Given the description of an element on the screen output the (x, y) to click on. 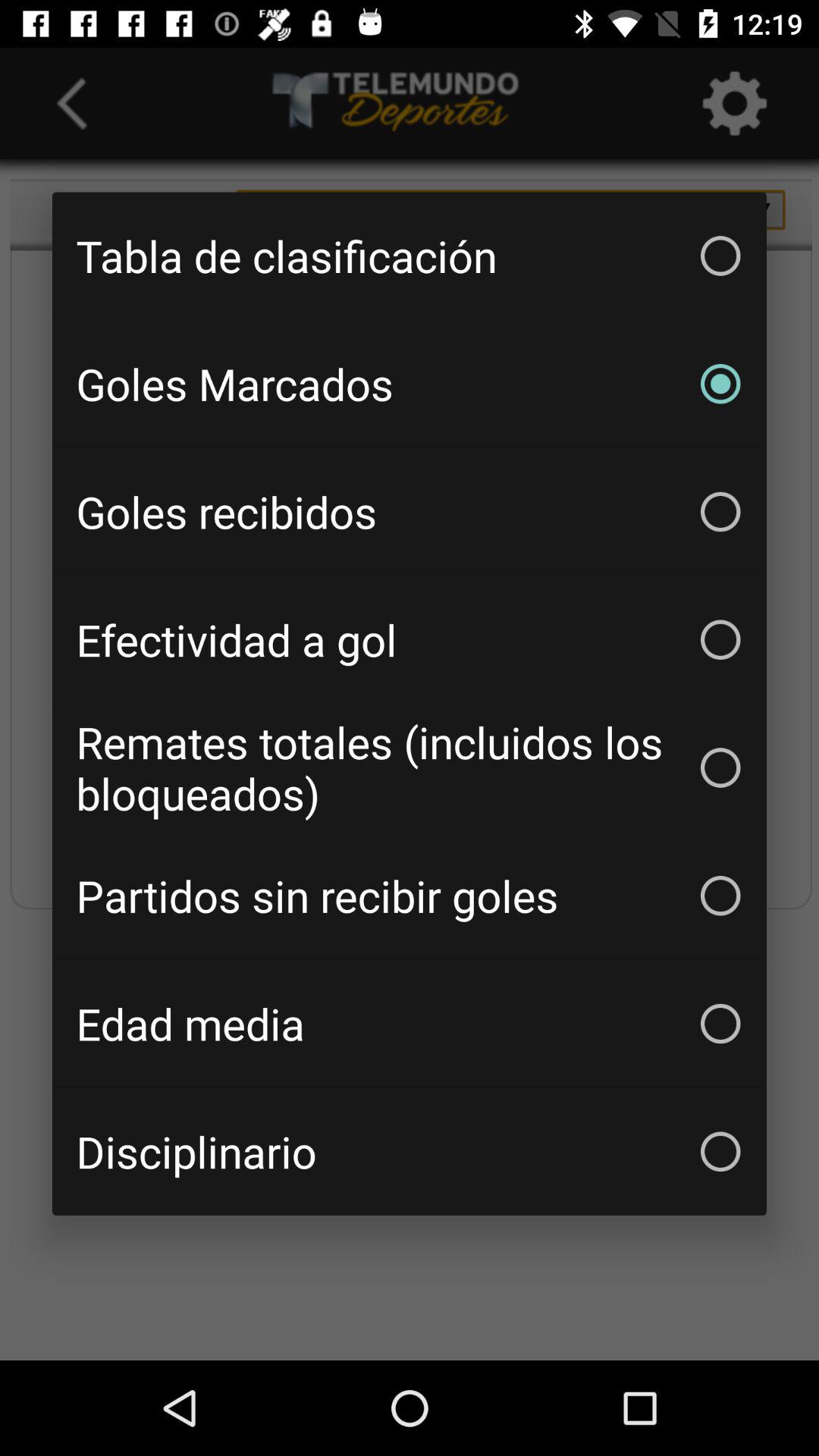
choose the item above disciplinario icon (409, 1023)
